Given the description of an element on the screen output the (x, y) to click on. 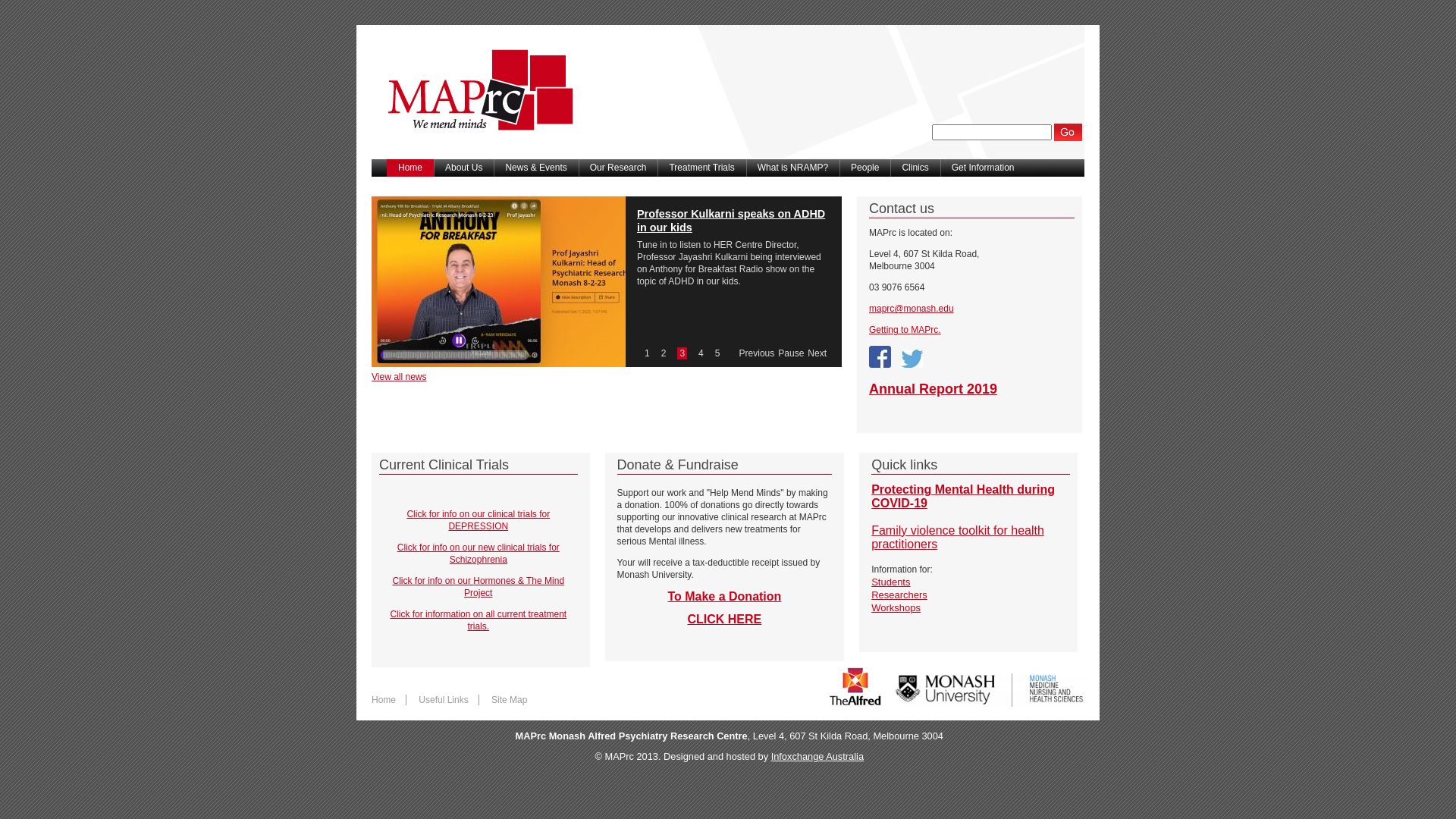
Infoxchange Australia Element type: text (817, 756)
Protecting Mental Health during COVID-19 Element type: text (962, 497)
Click for info on our new clinical trials for Schizophrenia Element type: text (478, 553)
Search Element type: text (1069, 132)
Click for information on all current treatment trials. Element type: text (477, 619)
CLICK HERE Element type: text (724, 618)
Get Information Element type: text (983, 167)
Family violence toolkit for health practitioners Element type: text (957, 538)
maprc@monash.edu Element type: text (911, 308)
Click for info on our clinical trials for DEPRESSION Element type: text (477, 519)
Pause Element type: text (790, 353)
Our Research Element type: text (618, 167)
Researchers Element type: text (899, 594)
3 Element type: text (682, 353)
Previous Element type: text (757, 353)
What is NRAMP? Element type: text (792, 167)
Treatment Trials Element type: text (701, 167)
Home Element type: hover (475, 155)
Site Map Element type: text (509, 699)
Home Element type: text (409, 167)
2 Element type: text (663, 353)
5 Element type: text (717, 353)
View all news Element type: text (398, 376)
News & Events Element type: text (535, 167)
Useful Links Element type: text (442, 699)
Enter the terms you wish to search for. Element type: hover (991, 132)
1 Element type: text (646, 353)
Professor Kulkarni speaks on ADHD in our kids Element type: text (731, 220)
Annual Report 2019 Element type: text (933, 388)
Students Element type: text (890, 581)
4 Element type: text (700, 353)
To Make a Donation Element type: text (724, 595)
Clinics Element type: text (914, 167)
Workshops Element type: text (895, 607)
Home Element type: text (383, 699)
About Us Element type: text (463, 167)
People Element type: text (864, 167)
Getting to MAPrc. Element type: text (905, 329)
Click for info on our Hormones & The Mind Project Element type: text (478, 586)
Next Element type: text (816, 353)
